Given the description of an element on the screen output the (x, y) to click on. 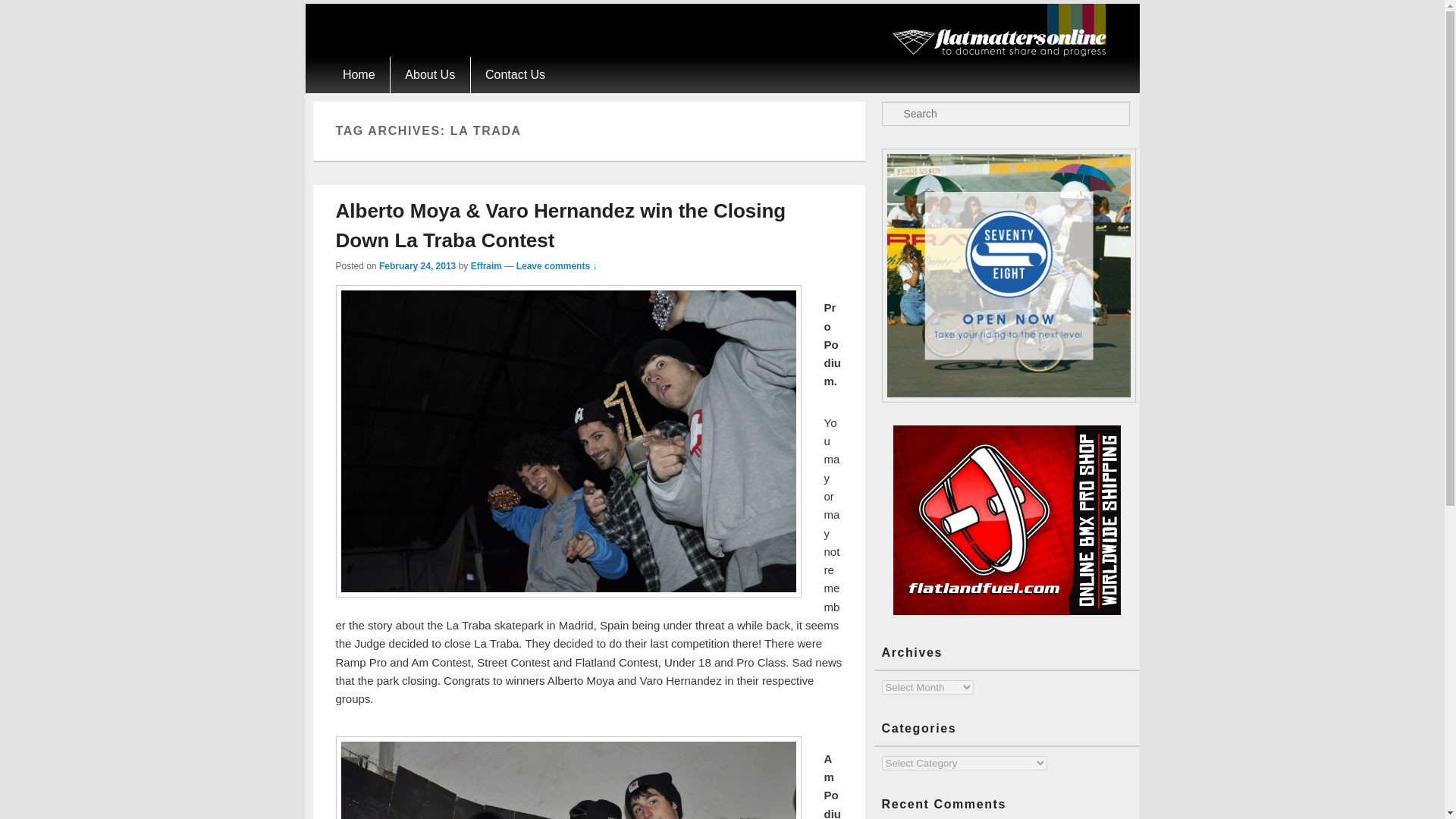
Skip to primary content (385, 65)
Effraim (486, 266)
Contact Us (515, 74)
poduim1 (567, 777)
Home (357, 74)
February 24, 2013 (416, 266)
3:05 pm (416, 266)
Flat Matters Online (1003, 51)
Skip to primary content (385, 65)
Skip to secondary content (392, 65)
